Given the description of an element on the screen output the (x, y) to click on. 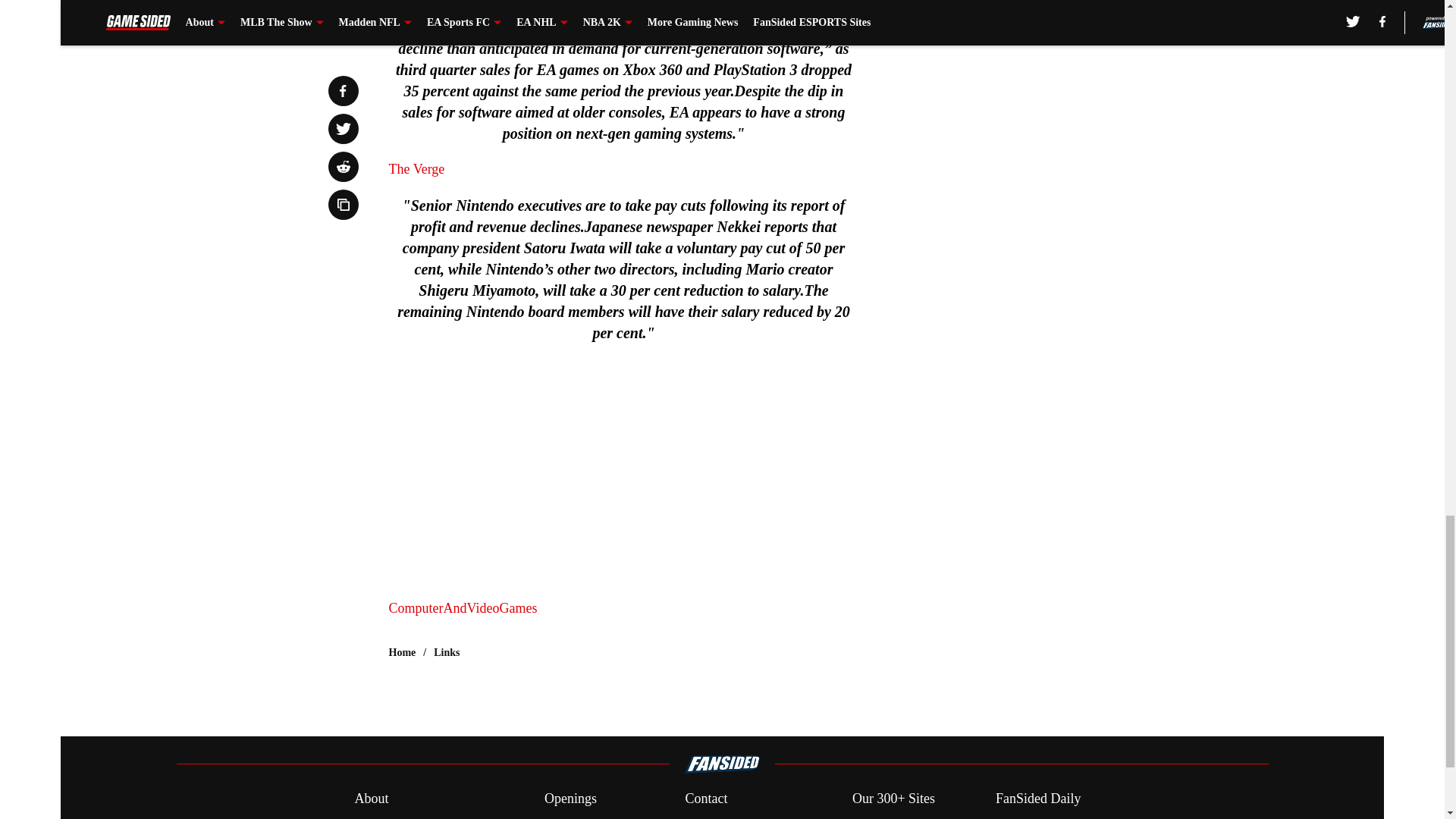
Links (446, 652)
ComputerAndVideoGames (462, 607)
FanSided Daily (1038, 798)
Home (401, 652)
Pitch a Story (389, 817)
About (370, 798)
The Verge (416, 168)
Terms of Use (721, 817)
Privacy Policy (584, 817)
Legal Disclaimer (1042, 817)
